Given the description of an element on the screen output the (x, y) to click on. 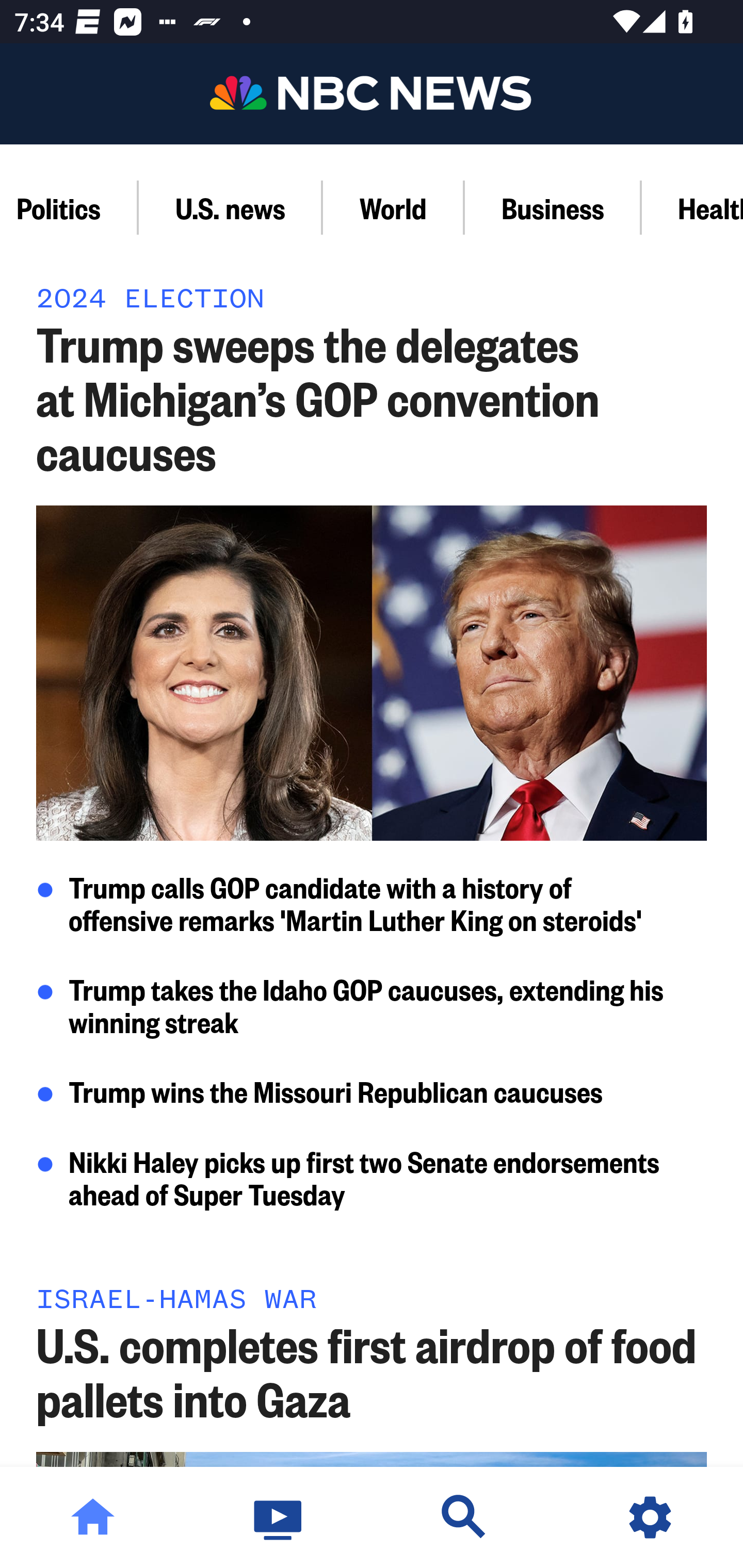
Politics Section,Politics (69, 207)
U.S. news Section,U.S. news (230, 207)
World Section,World (394, 207)
Business Section,Business (553, 207)
Watch (278, 1517)
Discover (464, 1517)
Settings (650, 1517)
